Given the description of an element on the screen output the (x, y) to click on. 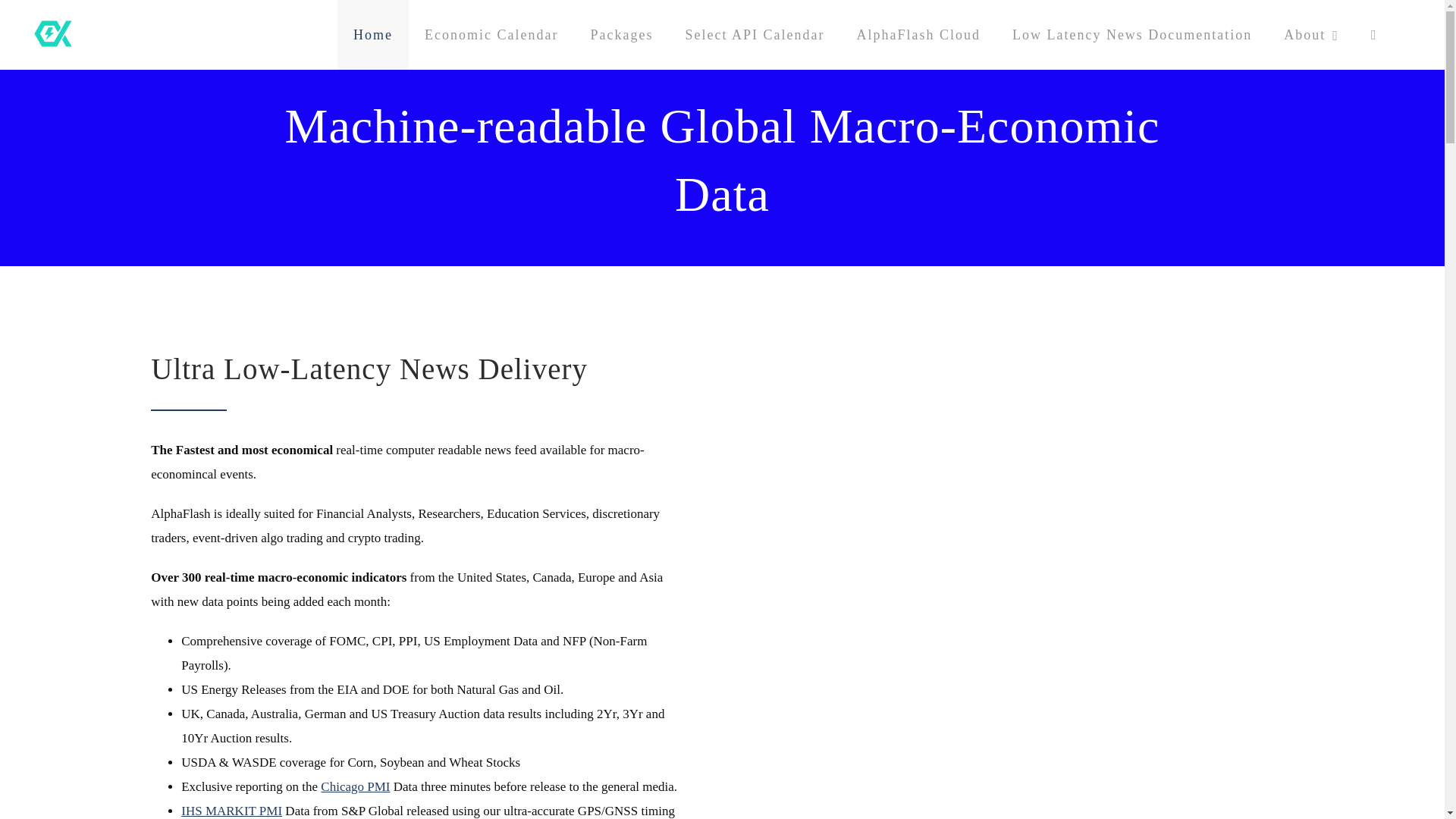
AlphaFlash Cloud (917, 34)
Economic Calendar (491, 34)
Machine Readable News (620, 34)
Select API Calendar (754, 34)
Economic Data Calendar (491, 34)
Home (373, 34)
Low Latency News Documentation (1131, 34)
Packages (620, 34)
IHS MARKIT PMI (231, 810)
Low latency Economic News Calendar (754, 34)
About (1311, 34)
Fast Economic News (1311, 34)
Chicago PMI (355, 786)
